Given the description of an element on the screen output the (x, y) to click on. 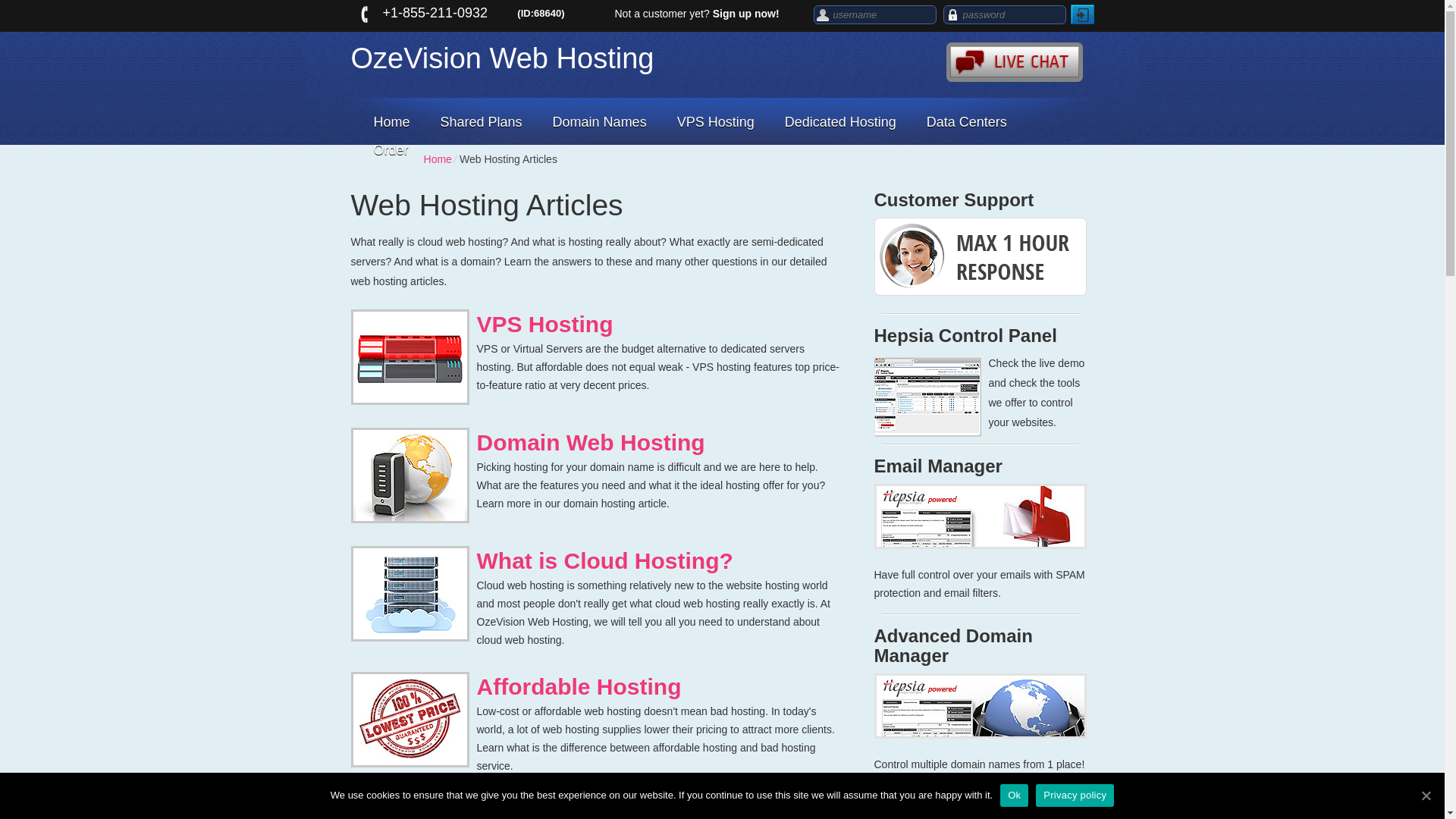
OzeVision Web Hosting (634, 60)
VPS Hosting (544, 324)
Sign up now! (745, 13)
Home (390, 122)
sign up (745, 13)
Shared Plans (480, 122)
Order (389, 150)
Domain Web Hosting (590, 442)
Domain Names (598, 122)
Data Centers (966, 122)
Home (437, 159)
What is Cloud Hosting? (604, 560)
VPS Hosting (715, 122)
